Given the description of an element on the screen output the (x, y) to click on. 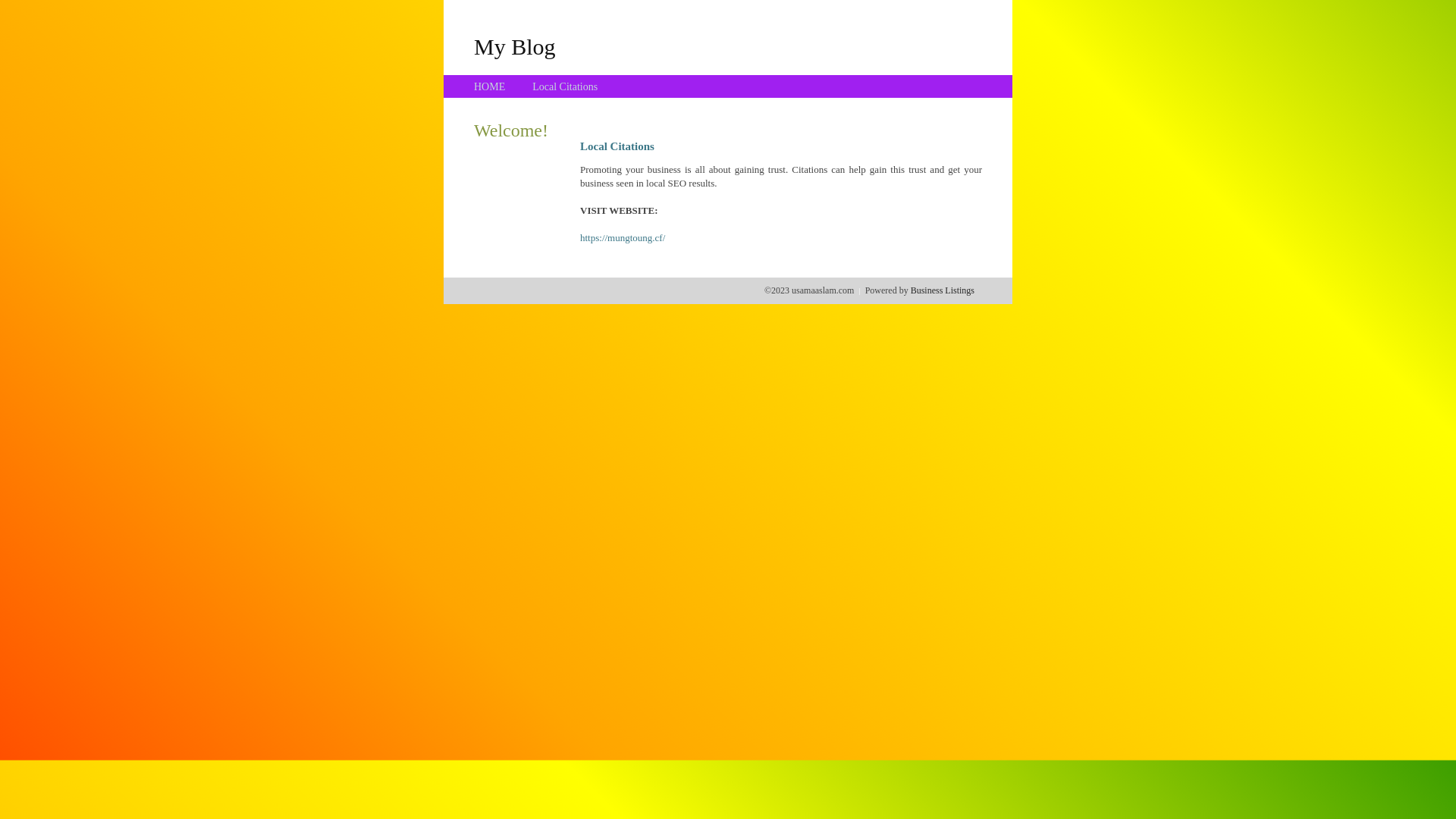
https://mungtoung.cf/ Element type: text (622, 237)
My Blog Element type: text (514, 46)
Local Citations Element type: text (564, 86)
HOME Element type: text (489, 86)
Business Listings Element type: text (942, 290)
